Given the description of an element on the screen output the (x, y) to click on. 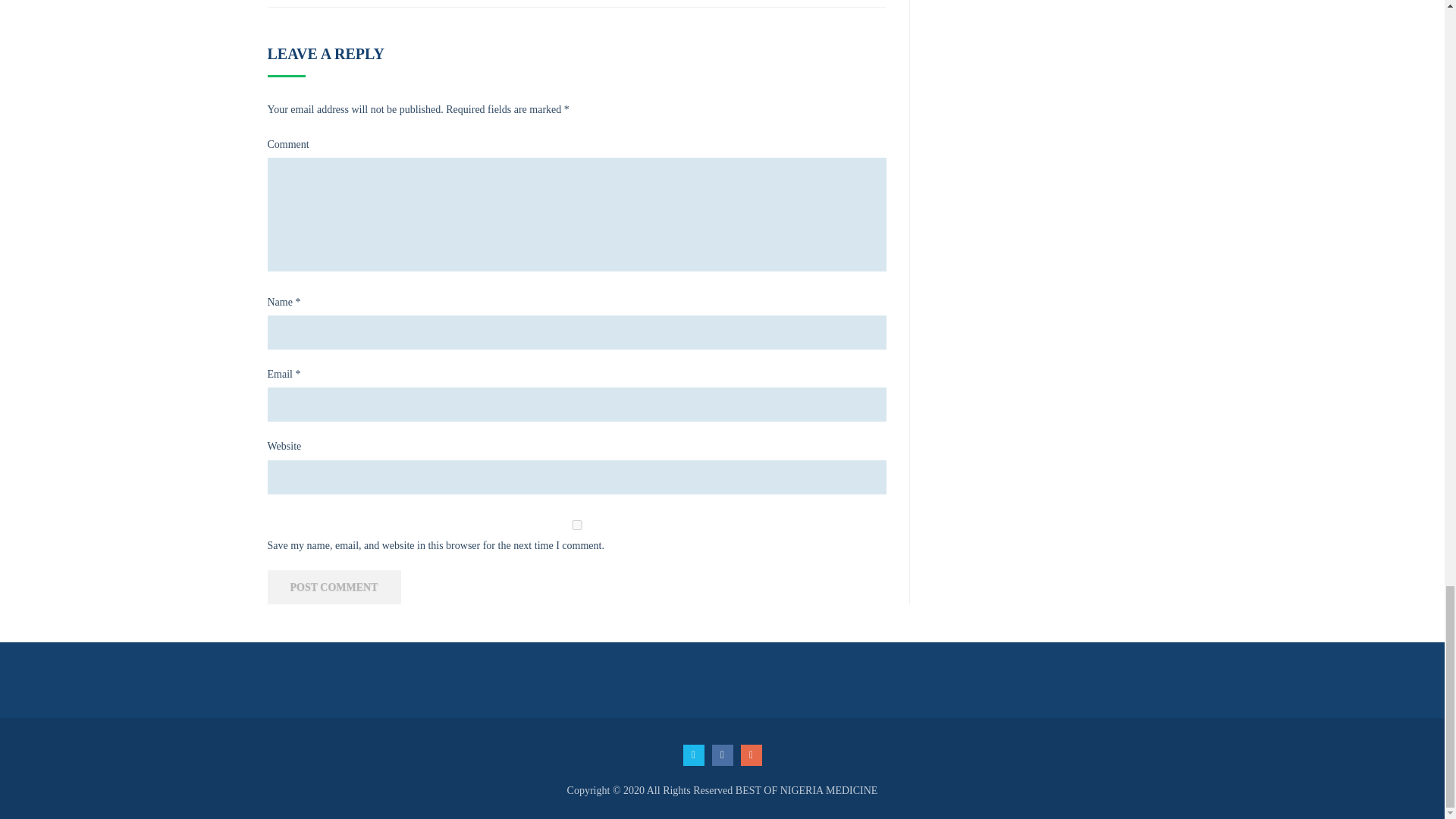
yes (575, 524)
Post Comment (333, 587)
Post Comment (333, 587)
